Given the description of an element on the screen output the (x, y) to click on. 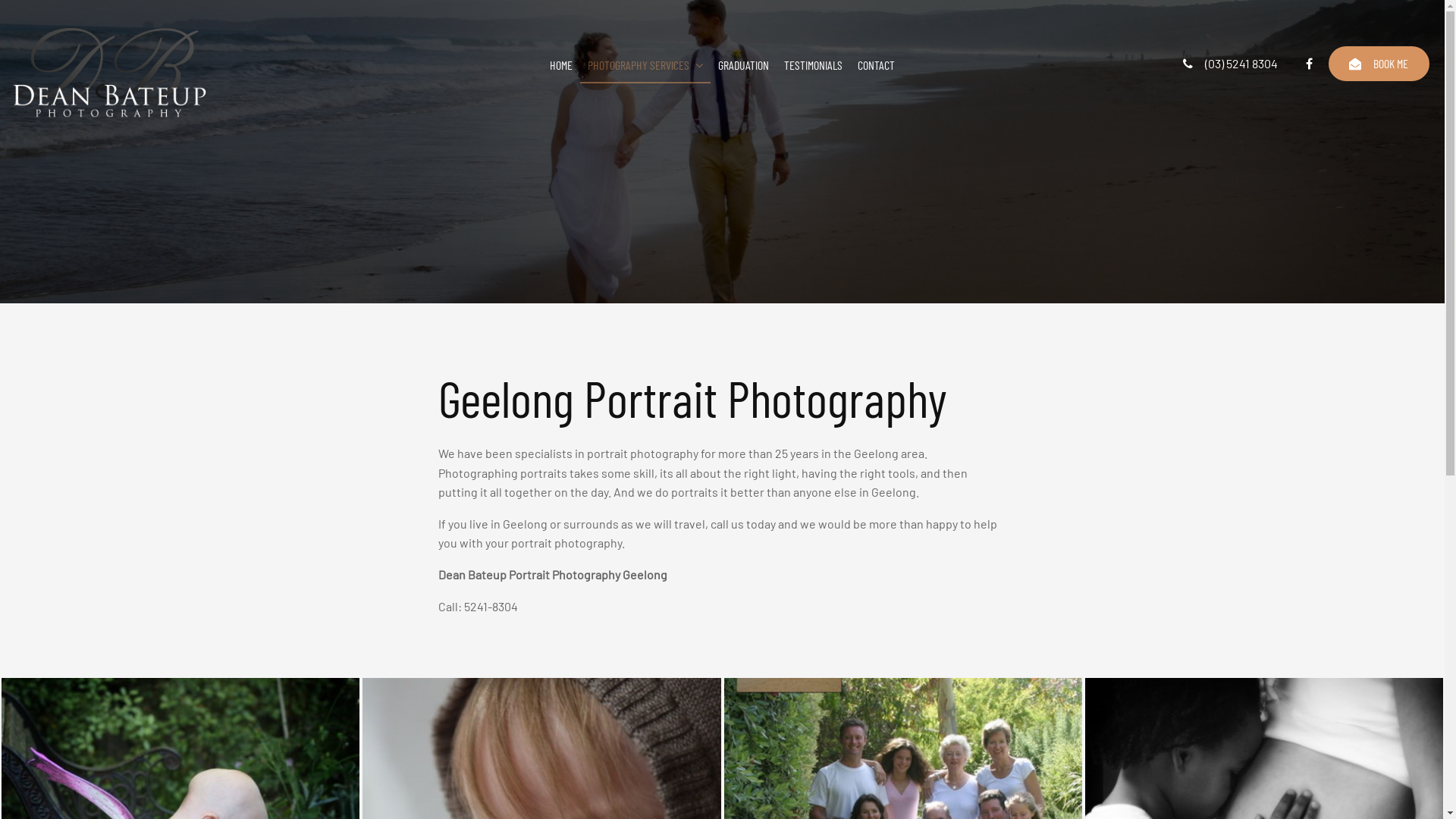
CONTACT Element type: text (876, 65)
TESTIMONIALS Element type: text (813, 65)
GRADUATION Element type: text (743, 65)
HOME Element type: text (561, 65)
BOOK ME Element type: text (1378, 63)
PHOTOGRAPHY SERVICES Element type: text (645, 65)
